Given the description of an element on the screen output the (x, y) to click on. 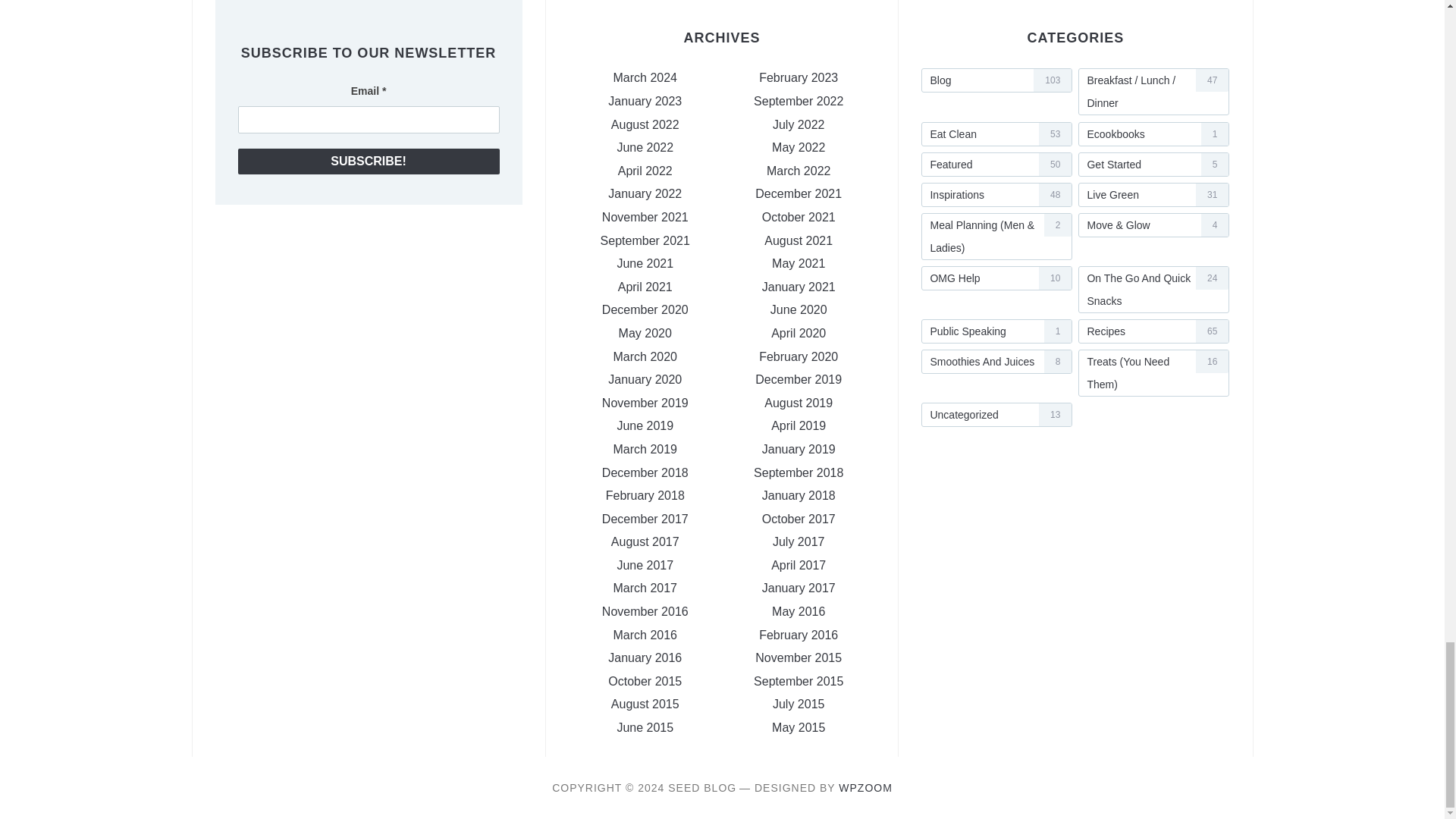
Subscribe! (368, 161)
